Given the description of an element on the screen output the (x, y) to click on. 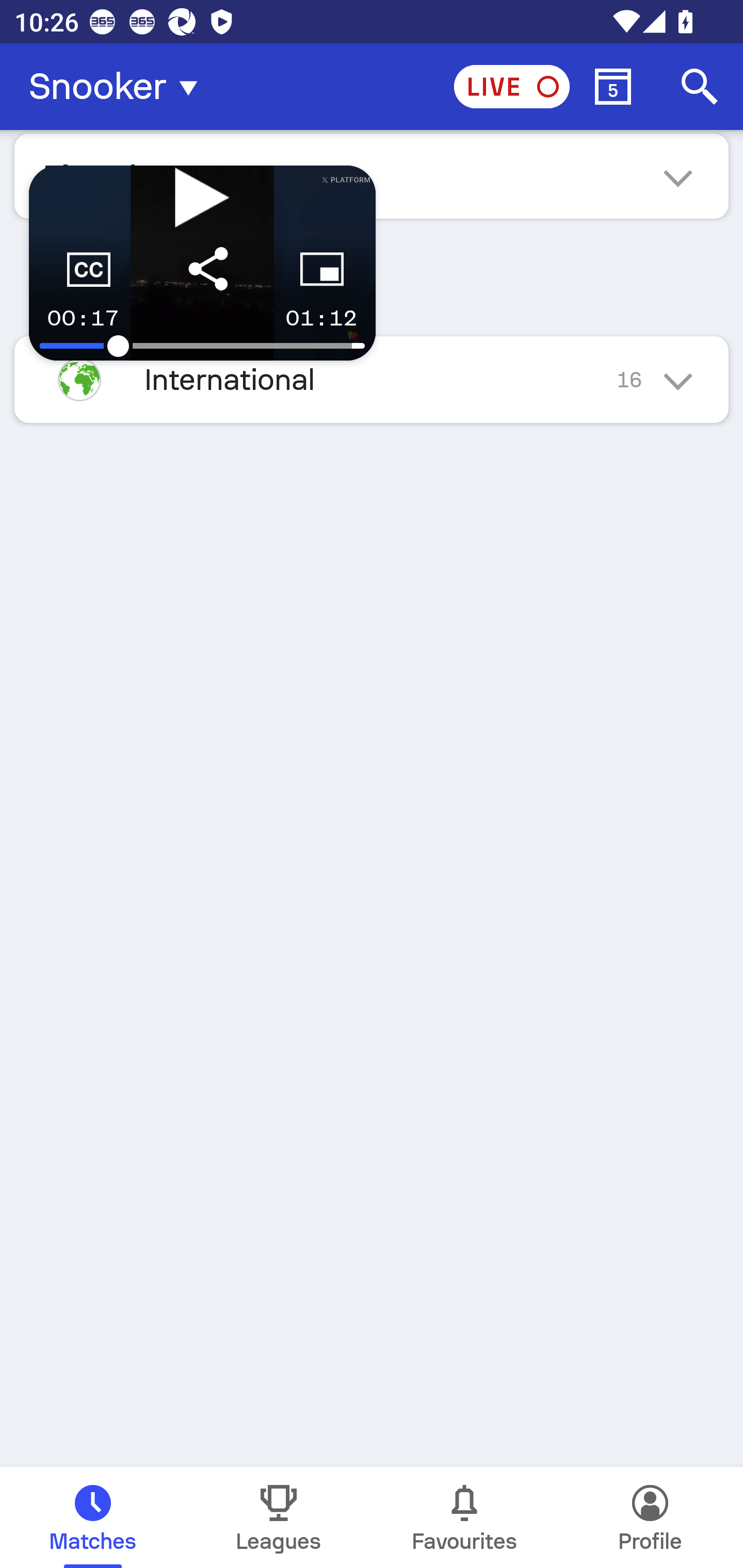
Snooker (118, 86)
Calendar (612, 86)
Search (699, 86)
International 16 (371, 379)
Leagues (278, 1517)
Favourites (464, 1517)
Profile (650, 1517)
